Given the description of an element on the screen output the (x, y) to click on. 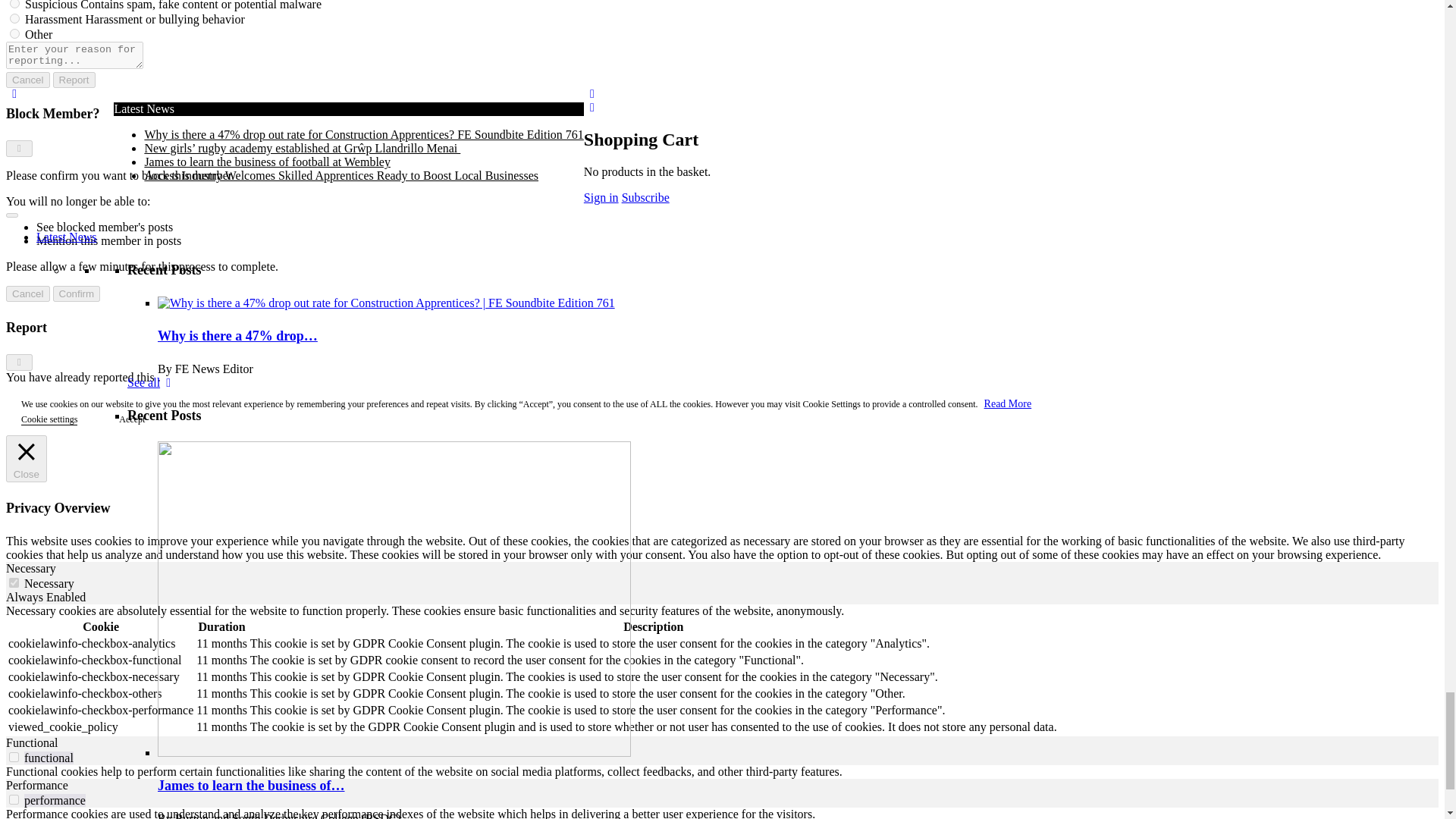
on (13, 799)
on (13, 757)
41897 (15, 4)
41898 (15, 18)
other (15, 33)
on (13, 583)
Cancel (27, 293)
Cancel (27, 79)
